Given the description of an element on the screen output the (x, y) to click on. 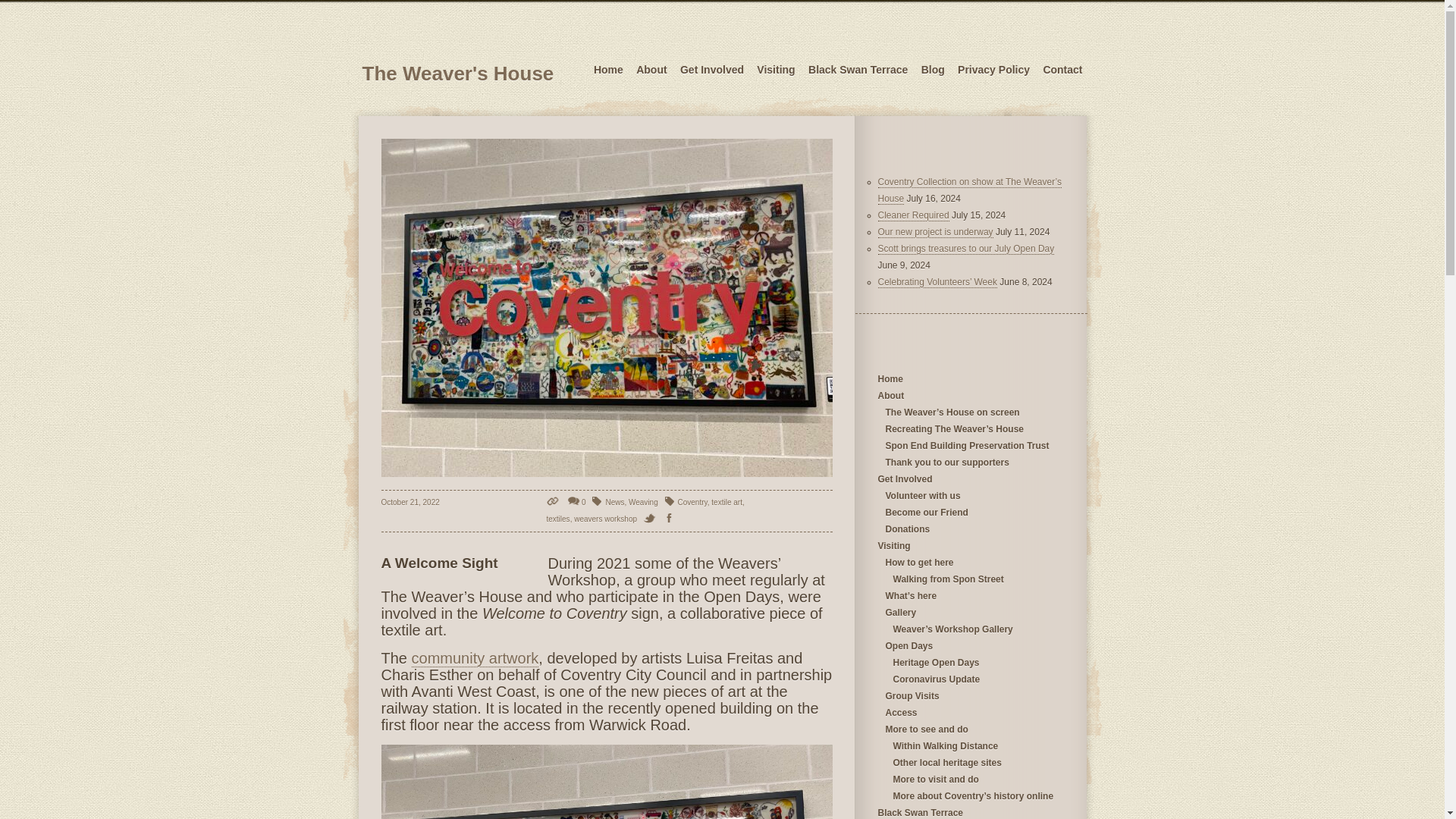
The Weaver's House (458, 69)
0 (576, 501)
The permalink (554, 501)
About (651, 69)
Privacy Policy (993, 69)
Tweet this (652, 518)
Number of comments (576, 501)
Like this on Facebook (671, 518)
Black Swan Terrace (857, 69)
Visiting (775, 69)
Home (608, 69)
Blog (932, 69)
Contact (1061, 69)
Get Involved (711, 69)
